Given the description of an element on the screen output the (x, y) to click on. 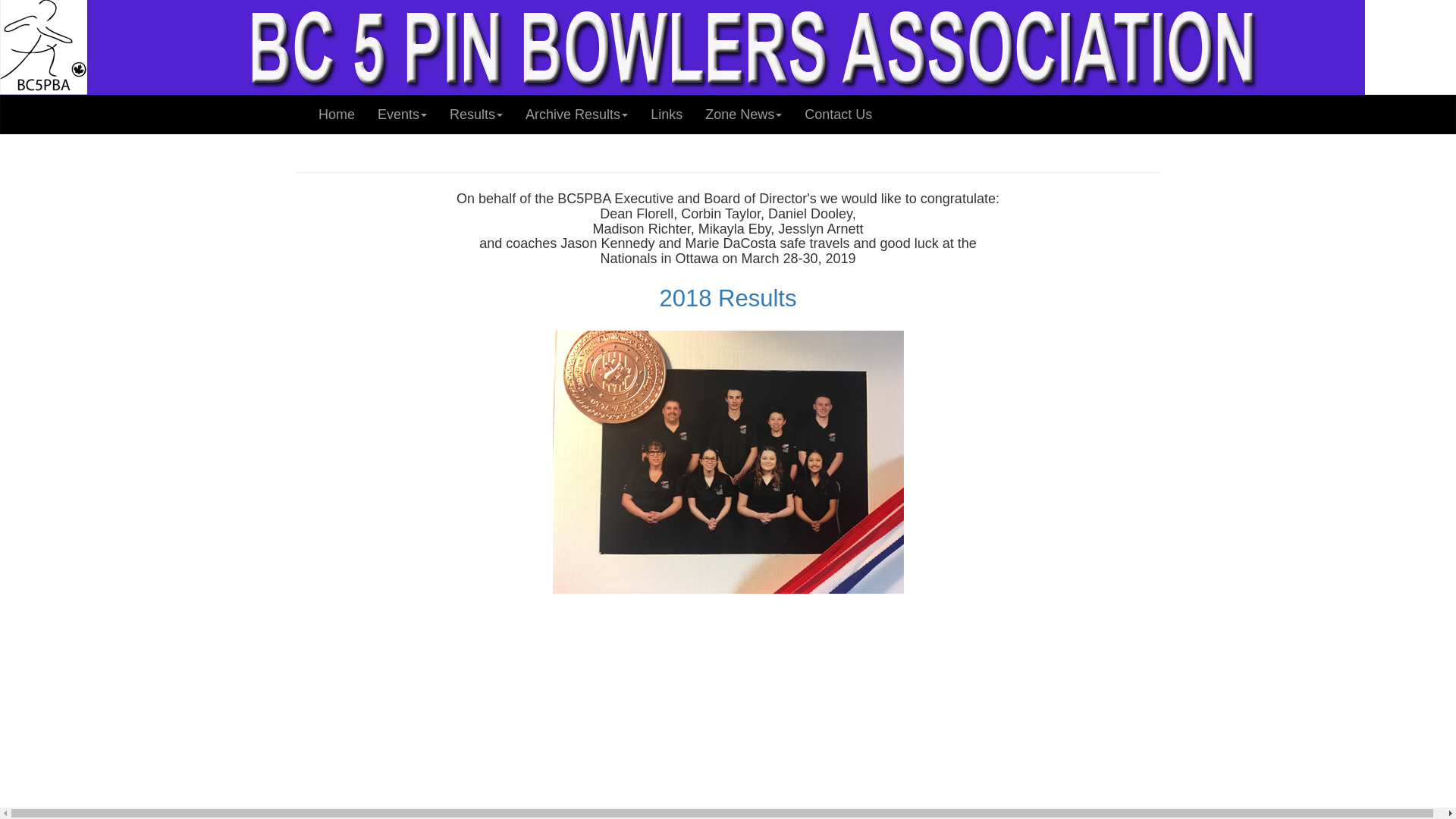
Contact Us Element type: text (838, 114)
Results Element type: text (476, 114)
Archive Results Element type: text (576, 114)
Links Element type: text (666, 114)
Events Element type: text (402, 114)
2018 Results Element type: text (728, 298)
Home Element type: text (336, 114)
Zone News Element type: text (743, 114)
